Given the description of an element on the screen output the (x, y) to click on. 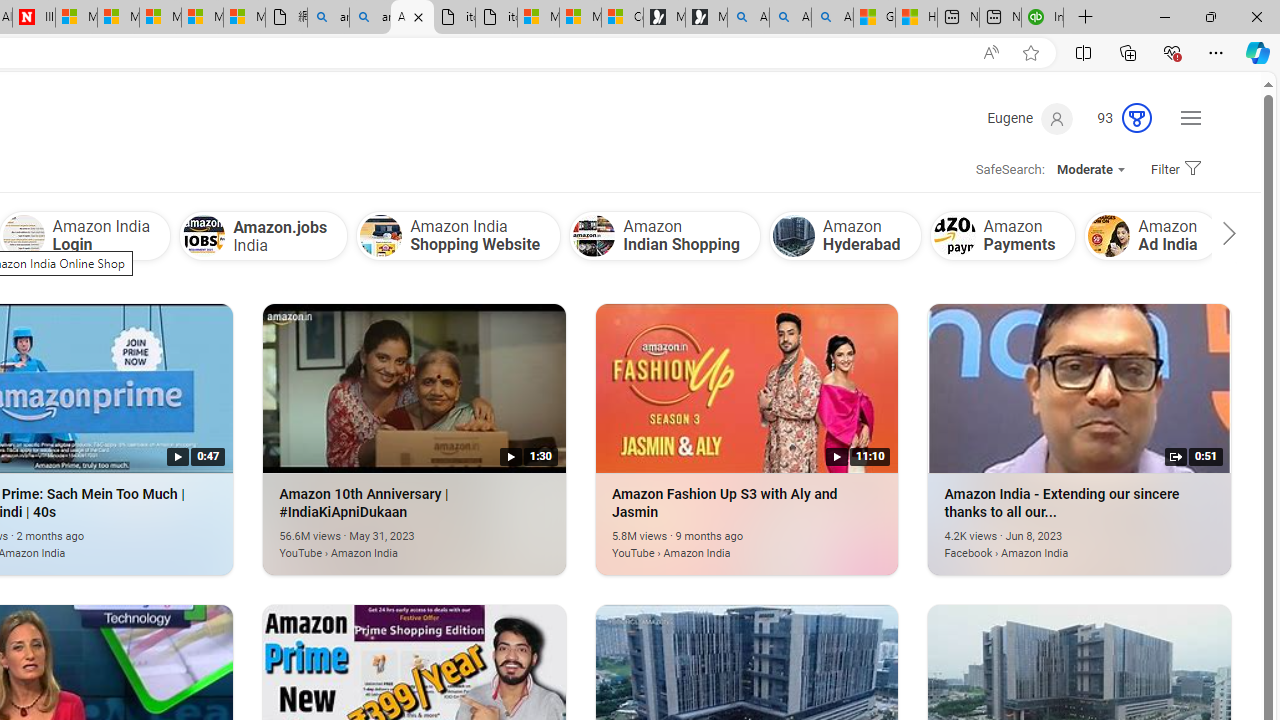
How to Use a TV as a Computer Monitor (916, 17)
Filter (1172, 169)
Alabama high school quarterback dies - Search (748, 17)
Microsoft Rewards 93 (1116, 119)
Amazon Indian Shopping (664, 235)
Amazon India Shopping Website (381, 236)
Amazon Hyderabad (845, 235)
